Given the description of an element on the screen output the (x, y) to click on. 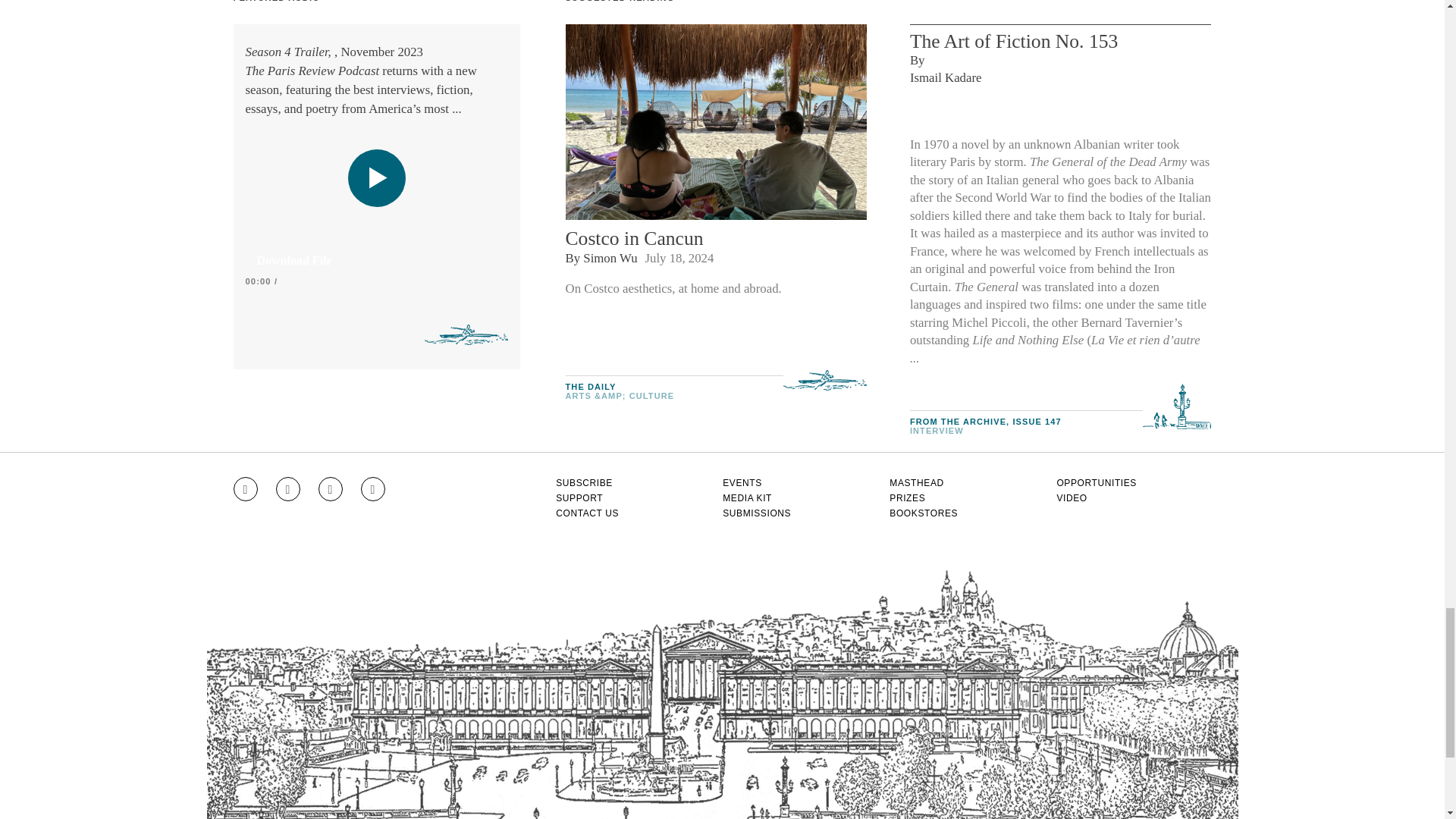
Go to Twitter feed (330, 488)
Go to Facebook page (287, 488)
Go to Instagram feed (244, 488)
Go to RSS feed (373, 488)
